Given the description of an element on the screen output the (x, y) to click on. 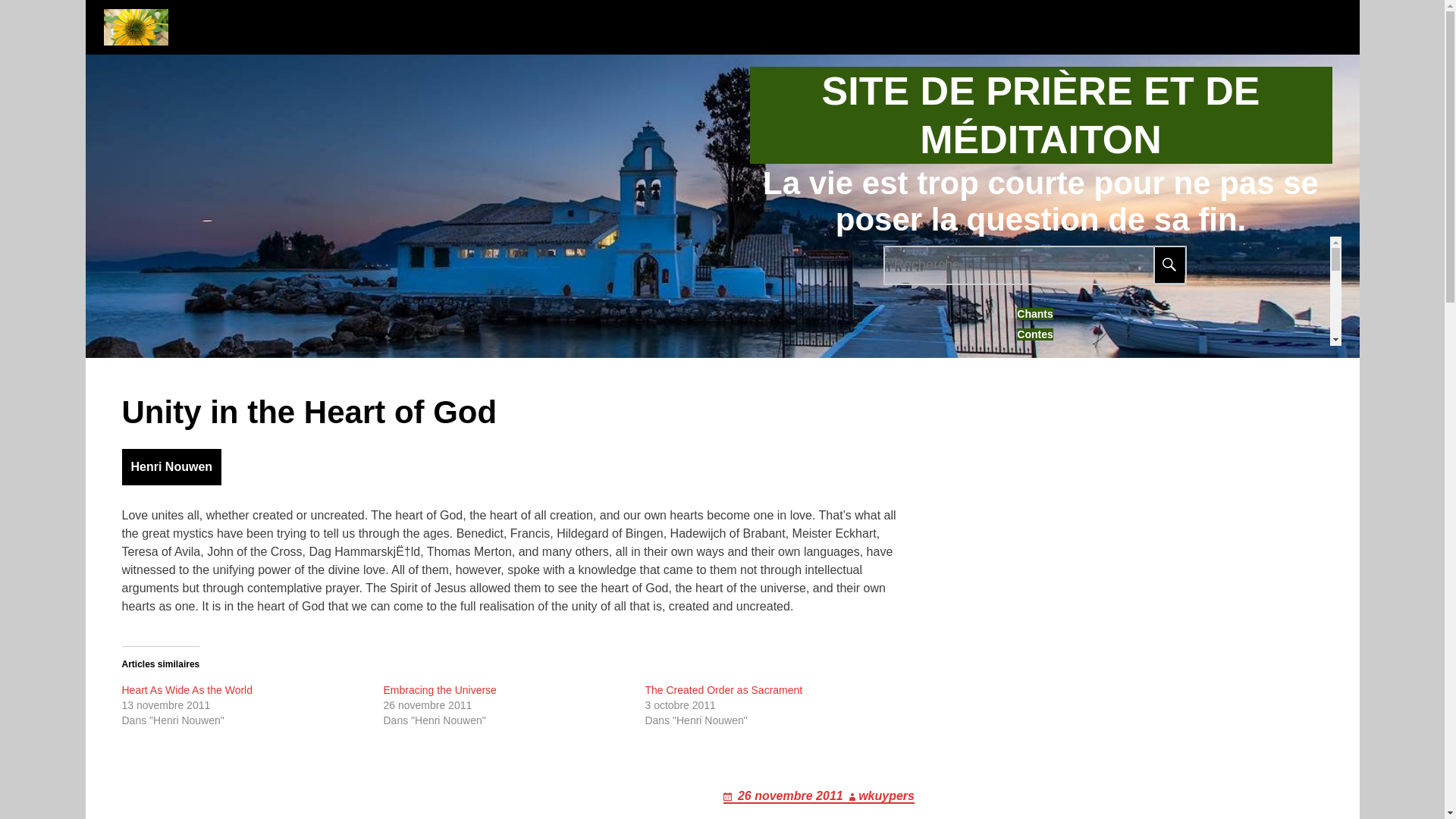
Le bruit (1034, 623)
Chants (1034, 313)
Jean Vanier (1035, 397)
Les Carnets (1034, 417)
The Created Order as Sacrament (723, 689)
wkuypers (879, 795)
26 novembre 2011 (783, 795)
Maximes (1034, 439)
Embracing the Universe (439, 689)
Textes de Dietrich Bonhoeffer (1034, 664)
Henri Nouwen (1034, 376)
Contes (1034, 334)
septembre 2023 (1034, 807)
janvier 2024 (1034, 766)
Heart As Wide As the World (185, 689)
